Given the description of an element on the screen output the (x, y) to click on. 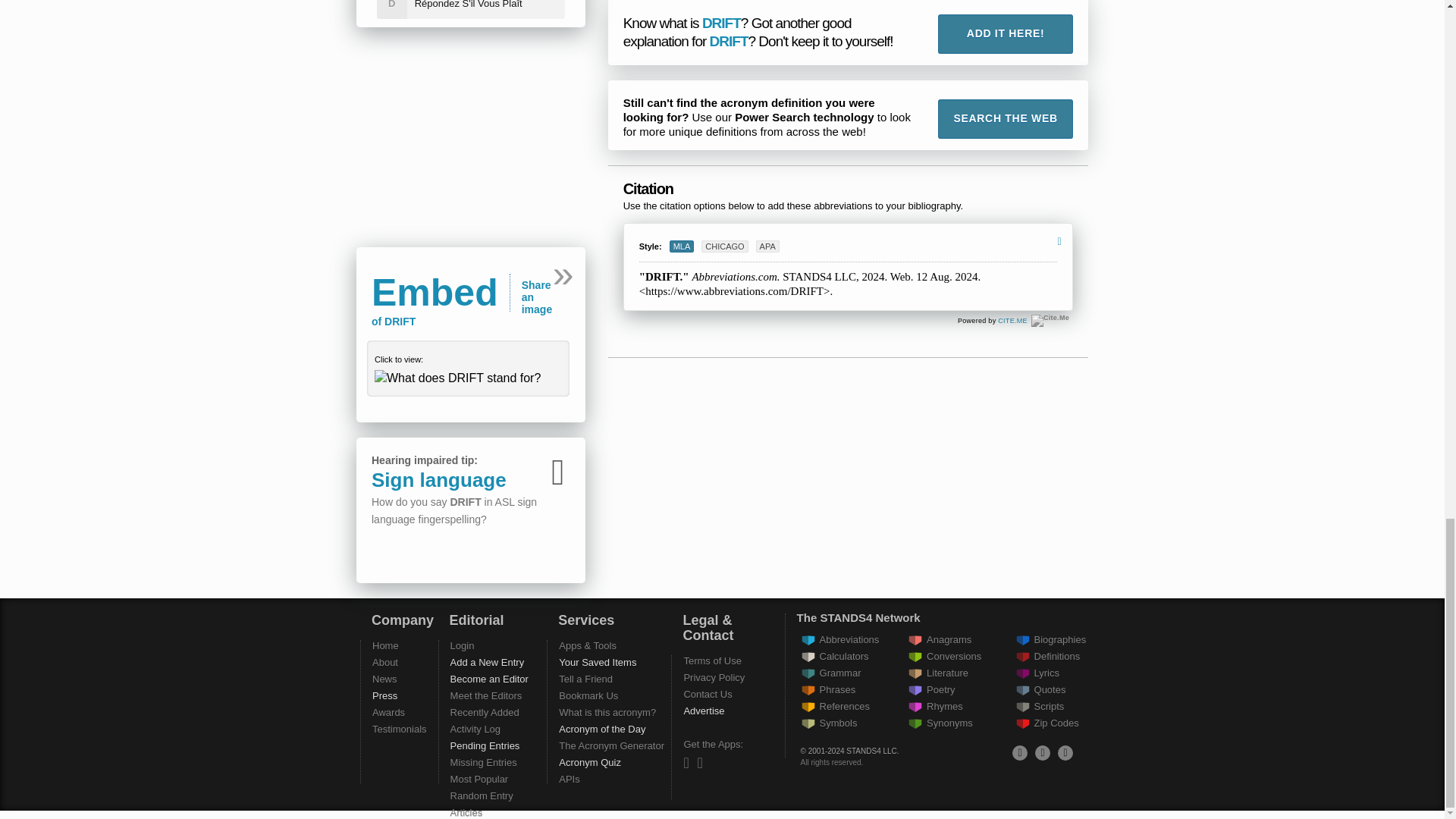
Cite.Me (1012, 320)
Cite.Me (1049, 320)
Cite.Me (1050, 320)
